Given the description of an element on the screen output the (x, y) to click on. 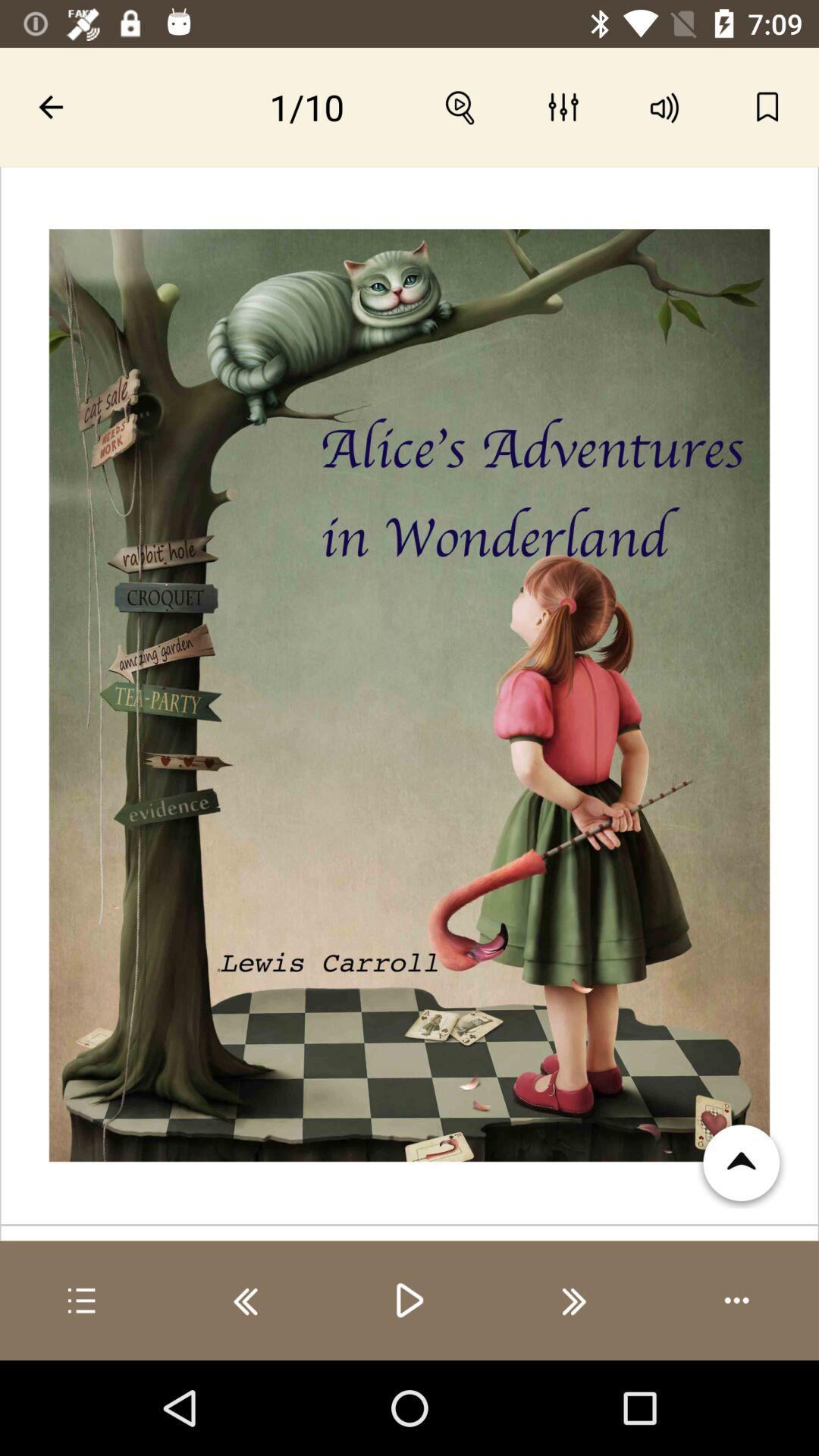
bookmark the page (767, 106)
